Given the description of an element on the screen output the (x, y) to click on. 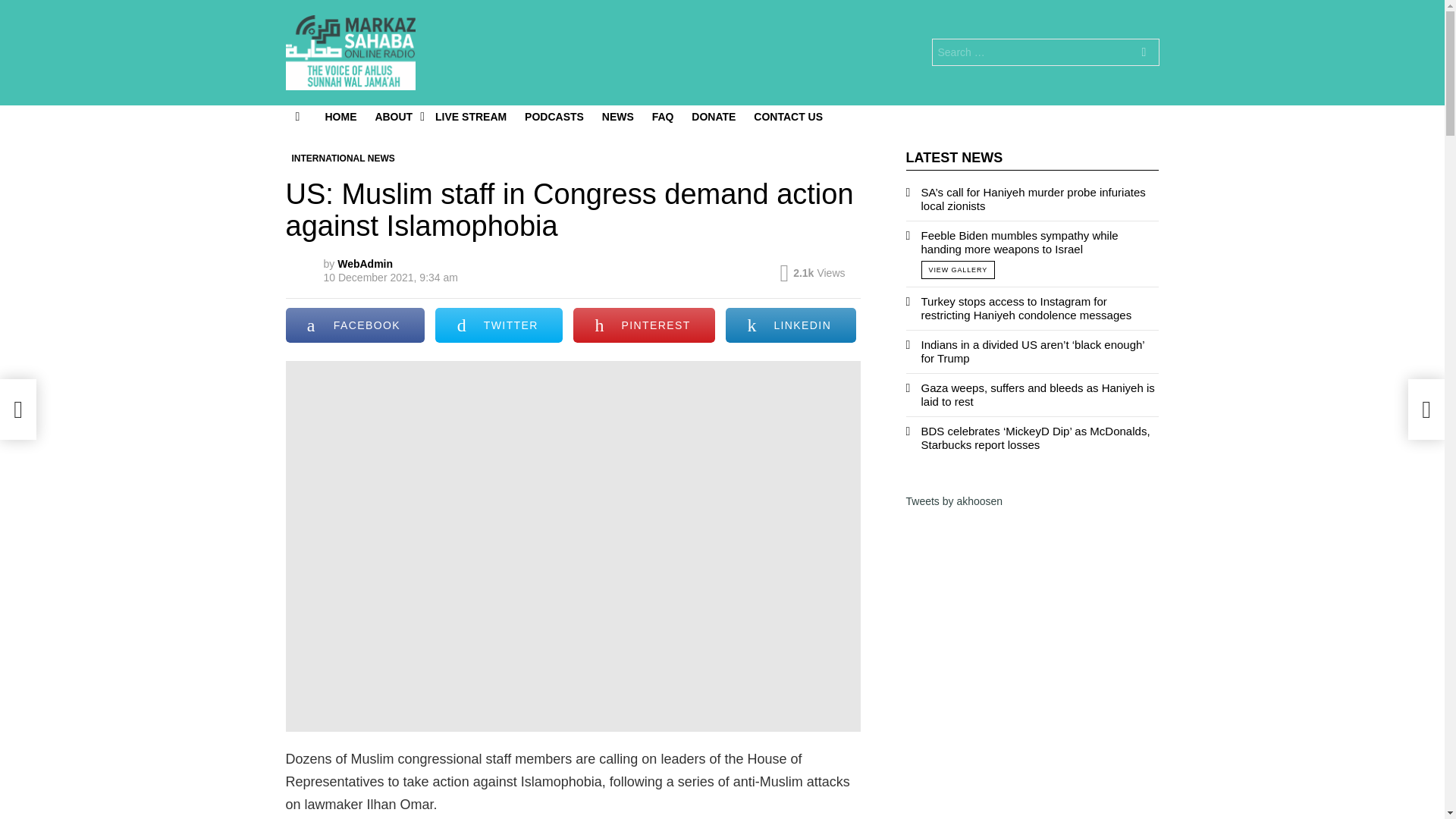
NEWS (618, 116)
FAQ (663, 116)
LIVE STREAM (470, 116)
Search for: (1044, 52)
SEARCH (1143, 53)
Share on Pinterest (643, 325)
PODCASTS (553, 116)
WebAdmin (365, 263)
ABOUT (395, 116)
TWITTER (498, 325)
